Given the description of an element on the screen output the (x, y) to click on. 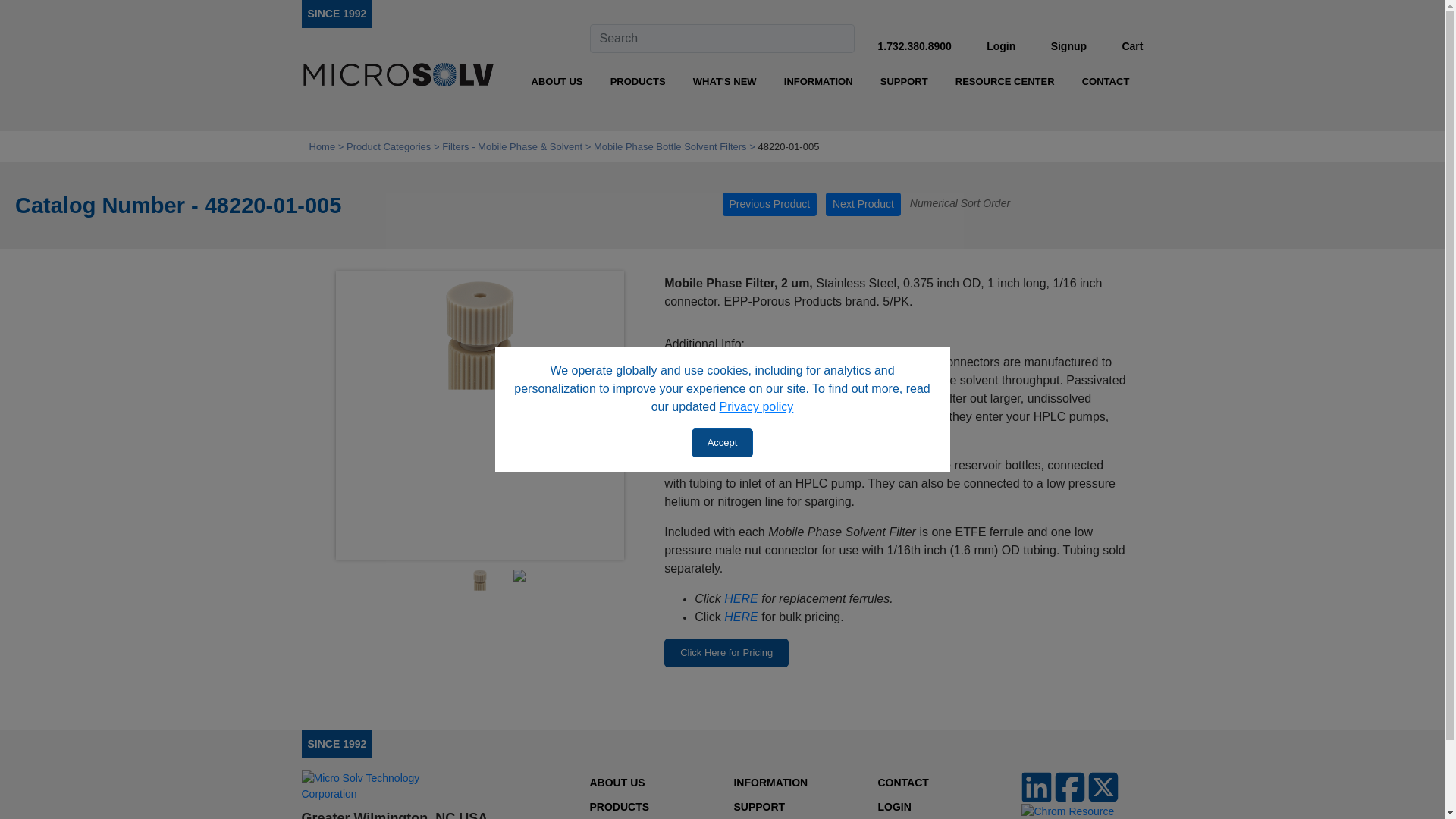
Login (1000, 46)
Signup (1068, 46)
Signup (1068, 46)
Accept (722, 442)
Cart (1131, 46)
ABOUT US (557, 81)
PRODUCTS (637, 81)
Micro Solv Technology Corporation (336, 13)
Privacy policy (756, 406)
Information (818, 81)
